Given the description of an element on the screen output the (x, y) to click on. 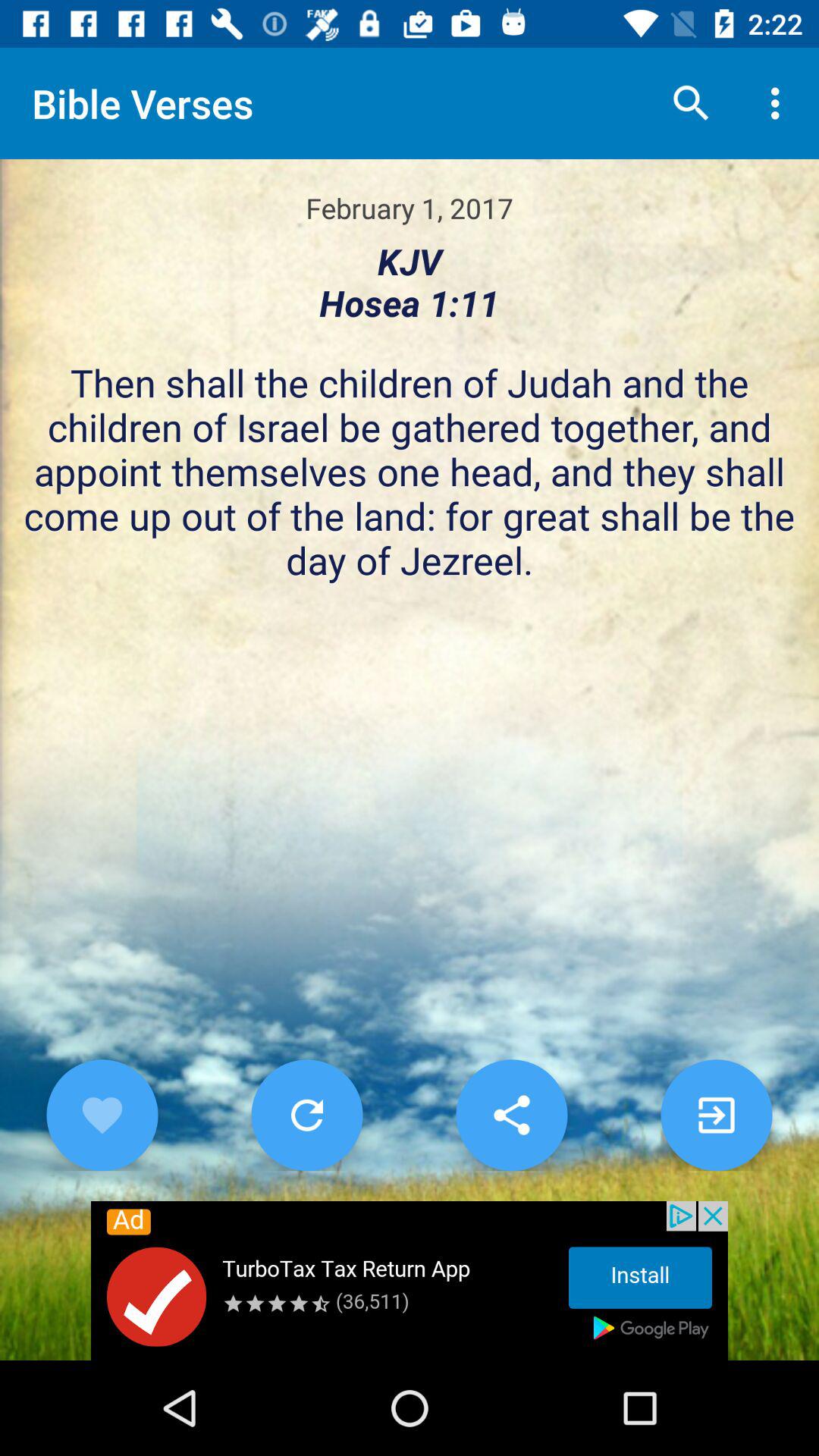
go next page (716, 1115)
